Given the description of an element on the screen output the (x, y) to click on. 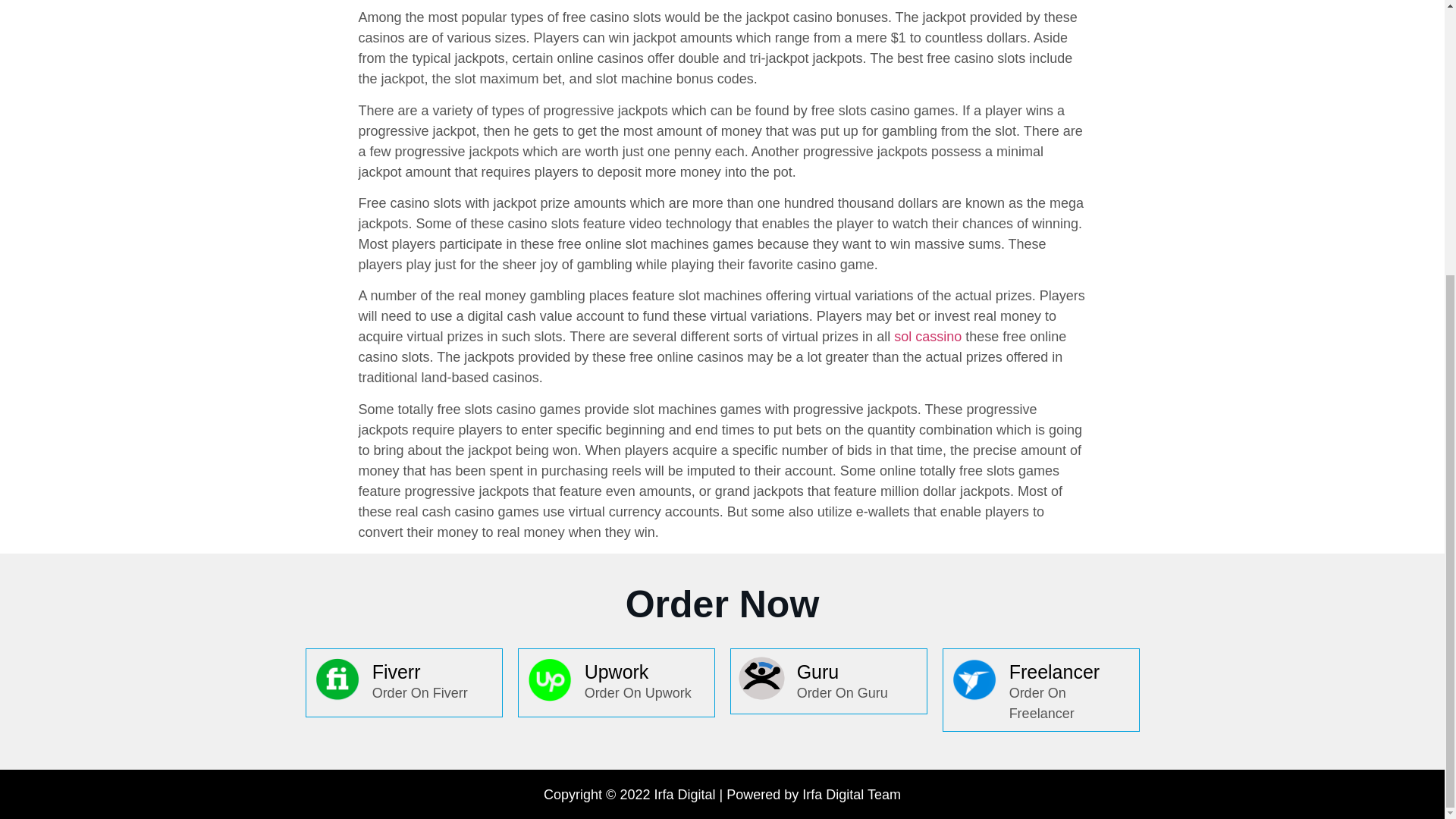
sol cassino (926, 336)
Fiverr (396, 671)
Freelancer (1054, 671)
Irfa Digital Team (851, 794)
Upwork (617, 671)
Guru (818, 671)
